Given the description of an element on the screen output the (x, y) to click on. 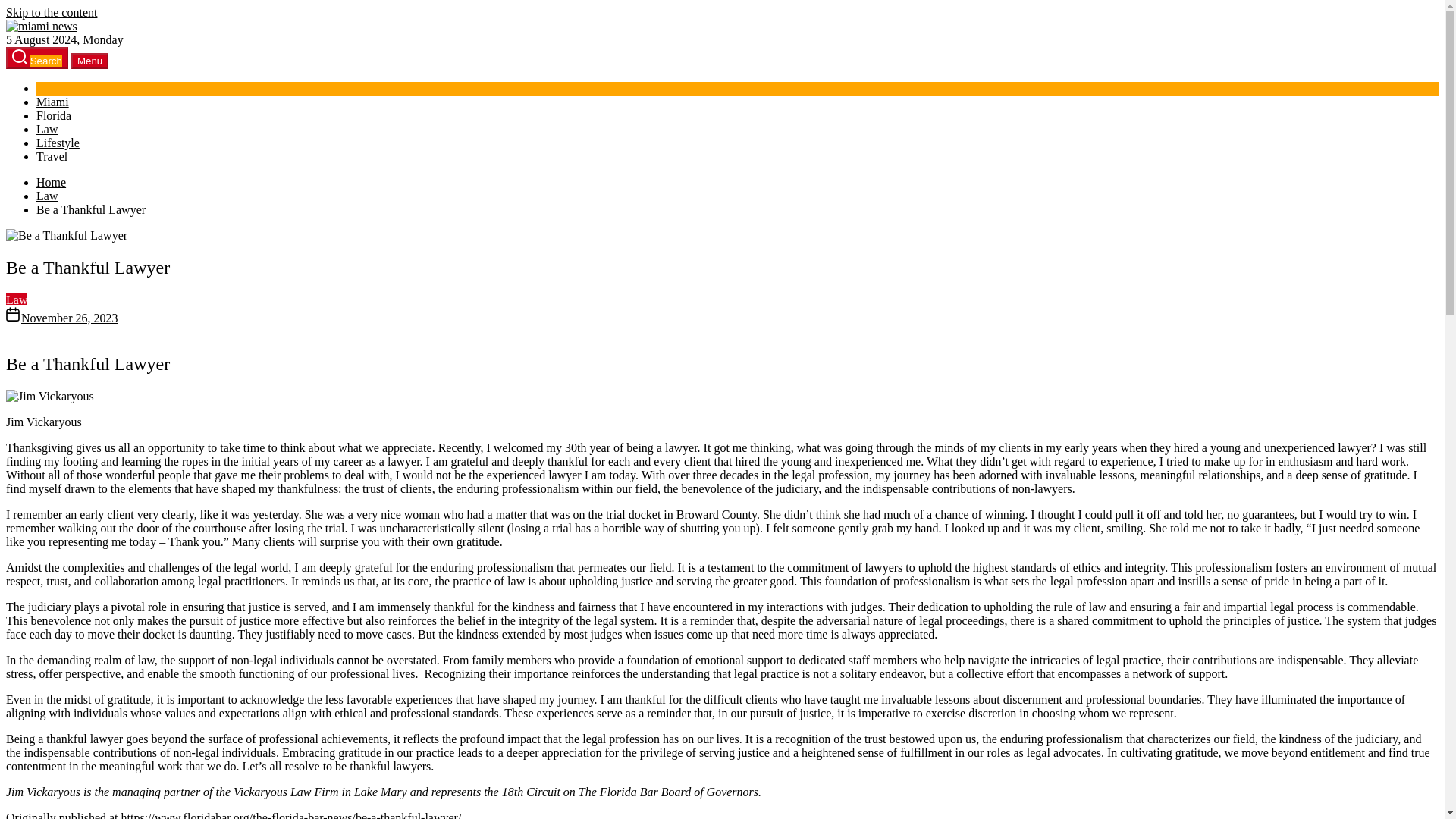
Florida (53, 115)
Miami (52, 101)
Menu (89, 60)
Search (36, 57)
Travel (51, 155)
Home (50, 182)
November 26, 2023 (69, 318)
Skip to the content (51, 11)
Law (47, 128)
Be a Thankful Lawyer (66, 235)
Be a Thankful Lawyer (90, 209)
Law (47, 195)
Lifestyle (58, 142)
Law (16, 299)
